Given the description of an element on the screen output the (x, y) to click on. 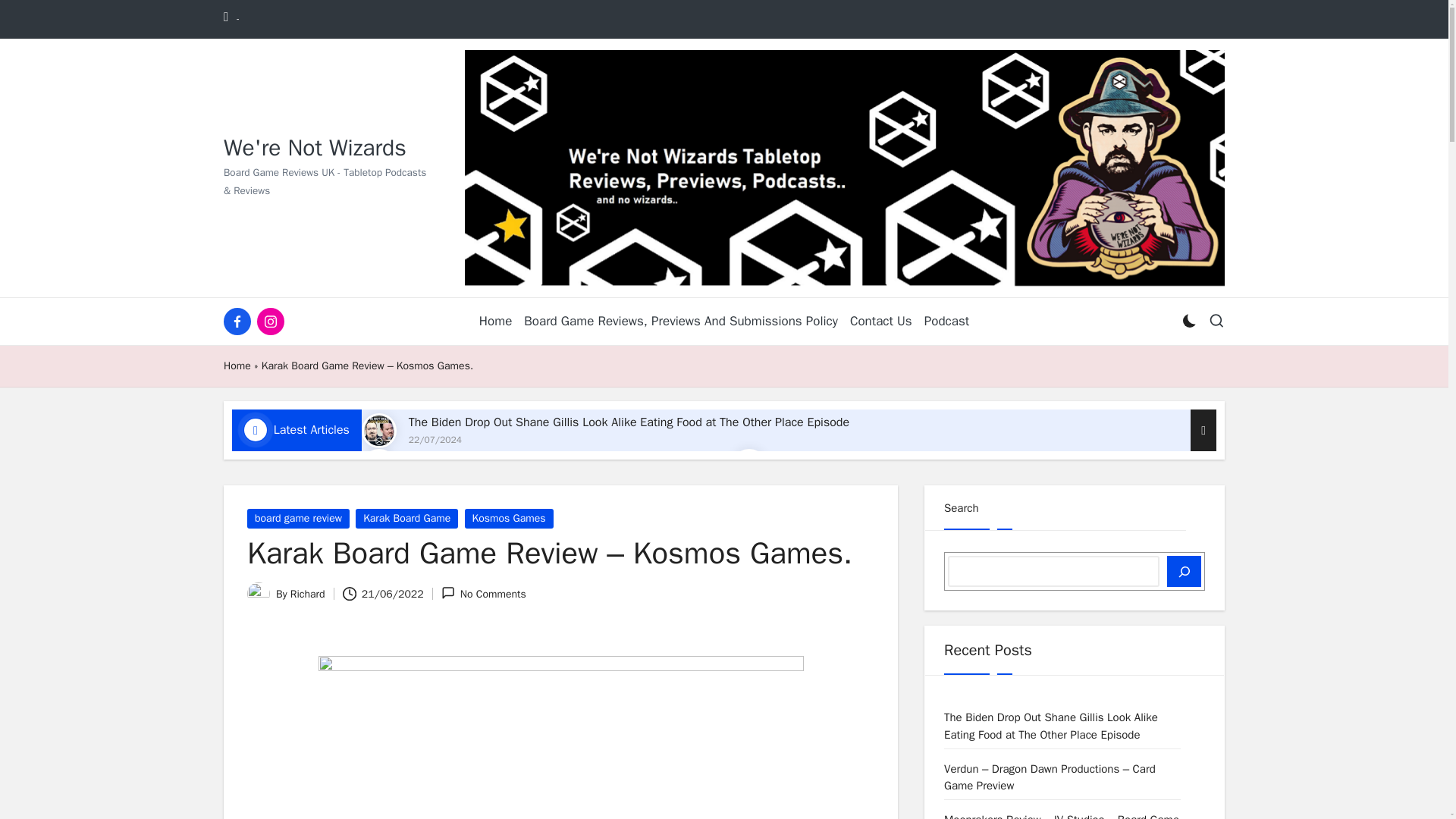
Board Game Reviews, Previews And Submissions Policy (681, 321)
View all posts by Richard (306, 594)
Home (237, 366)
Instagram (273, 320)
Facebook Page (240, 320)
Contact Us (881, 321)
Podcast (946, 321)
We're Not Wizards (315, 147)
